Given the description of an element on the screen output the (x, y) to click on. 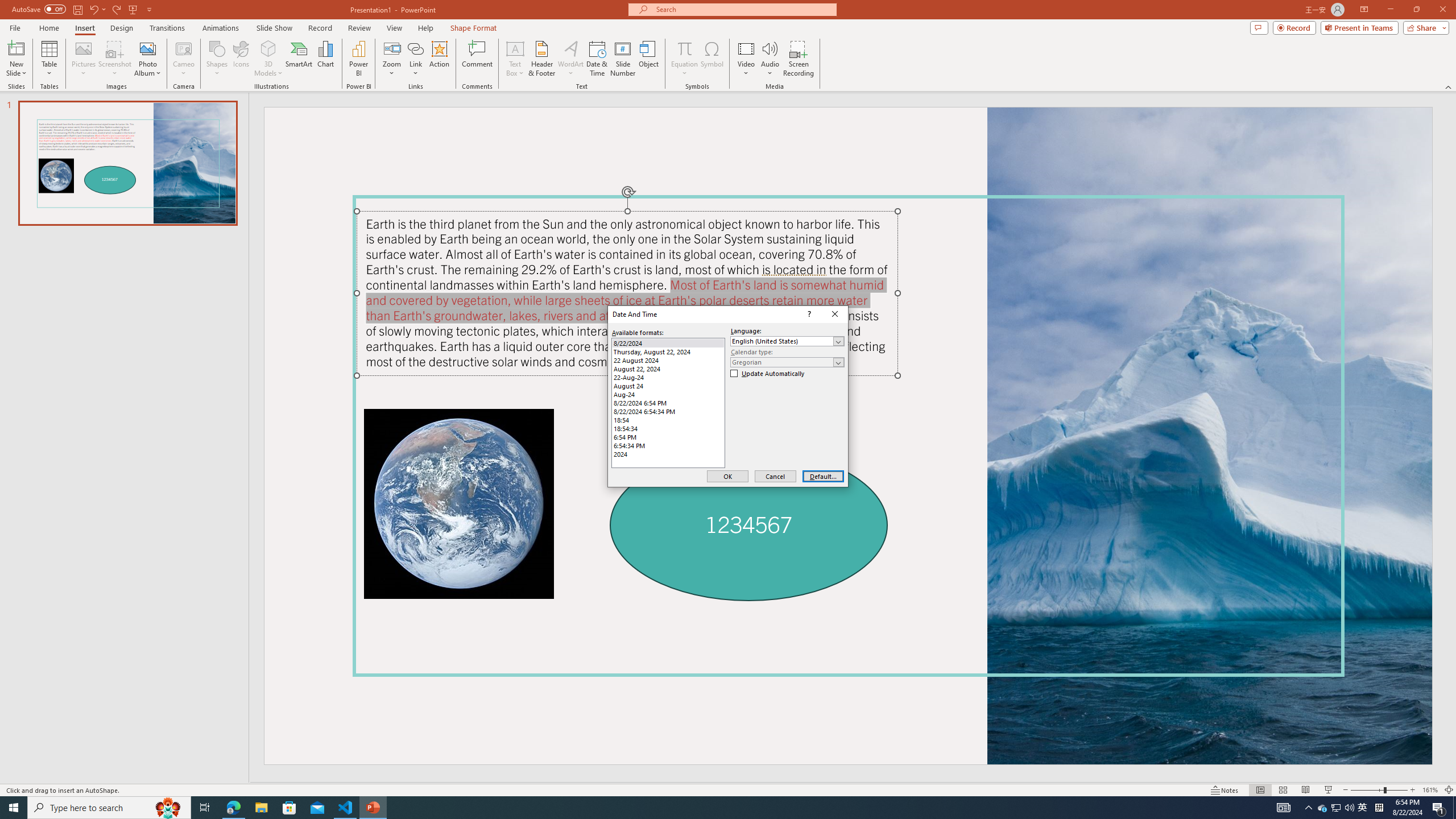
Screen Recording... (798, 58)
2024 (667, 453)
6:54 PM (667, 436)
Link (415, 48)
Language (787, 340)
Chart... (325, 58)
Screenshot (114, 58)
AutomationID: 4105 (1283, 807)
Default... (823, 476)
